Given the description of an element on the screen output the (x, y) to click on. 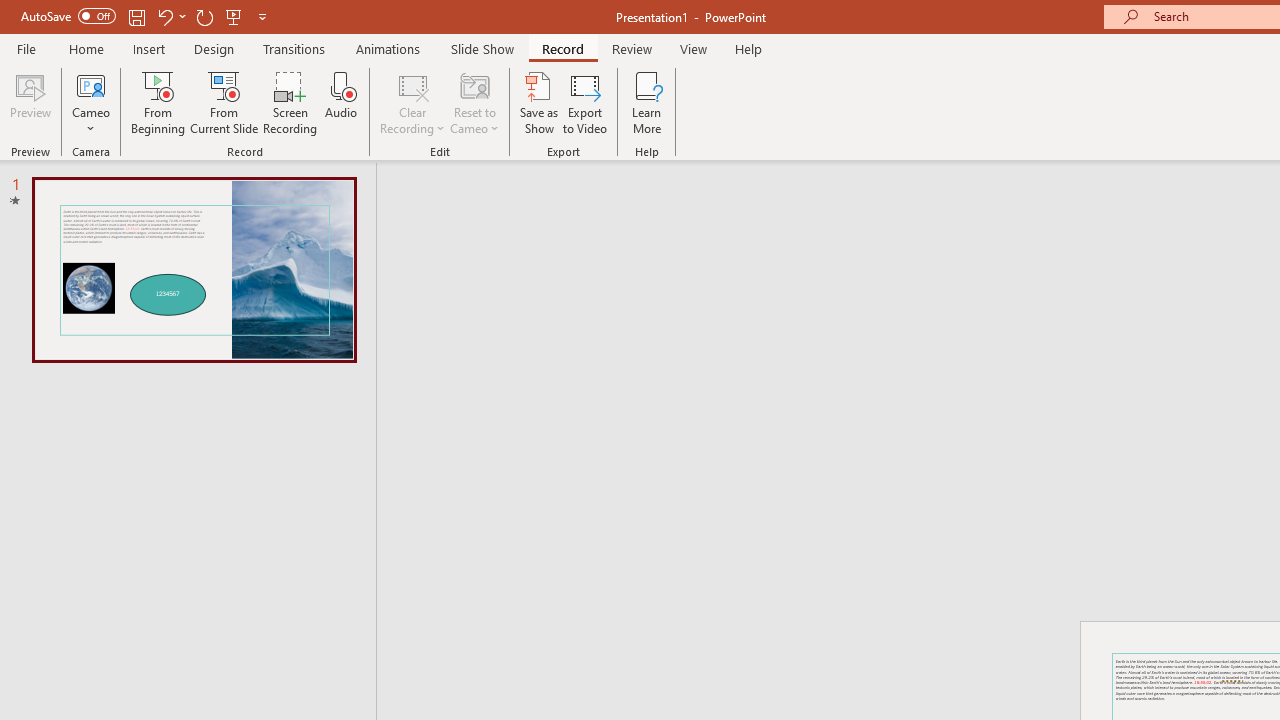
From Current Slide... (224, 102)
